Given the description of an element on the screen output the (x, y) to click on. 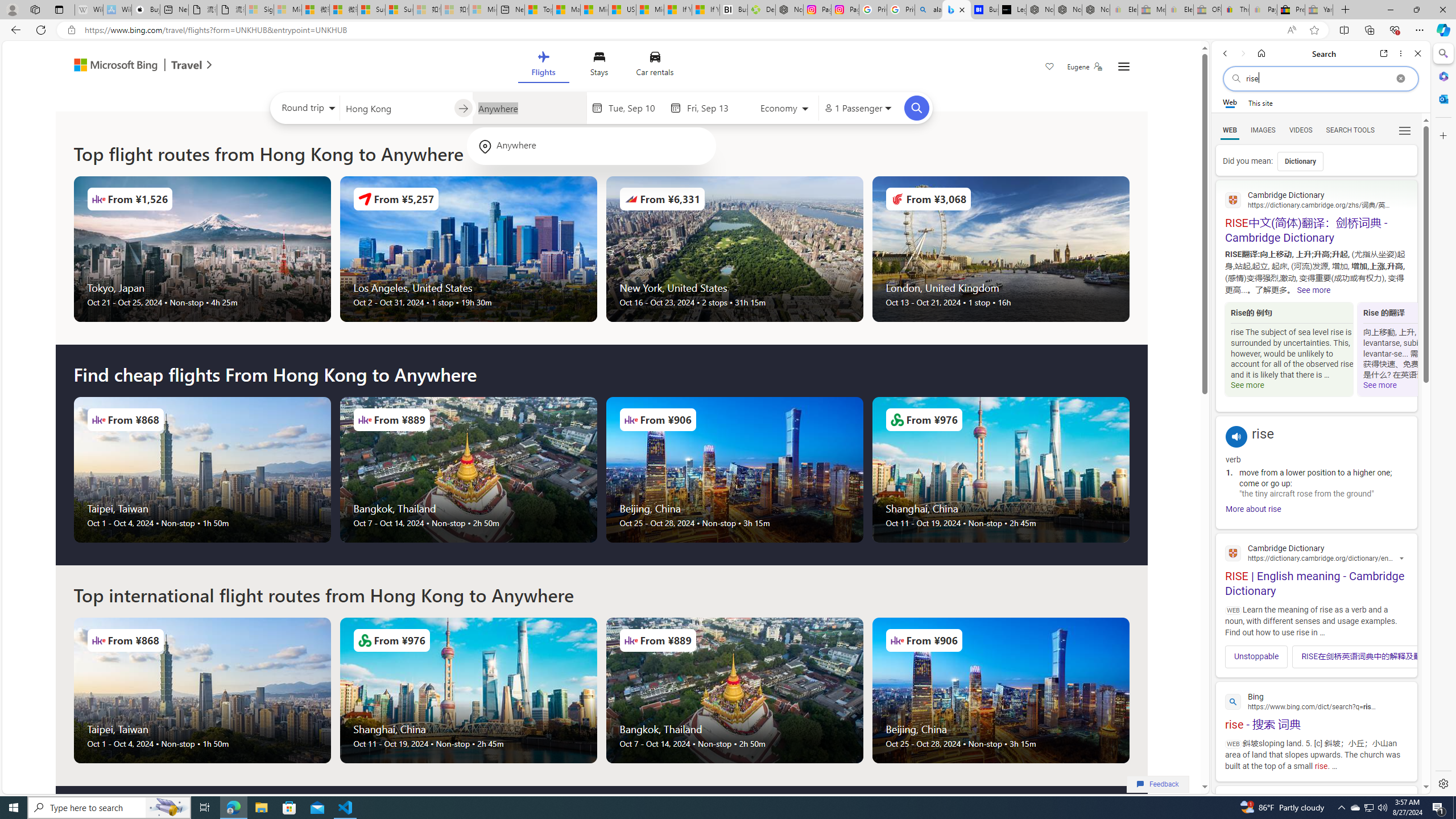
Going to? (528, 107)
Marine life - MSN (566, 9)
Click to scroll right (1400, 656)
Descarga Driver Updater (761, 9)
Sign in to your Microsoft account - Sleeping (259, 9)
Payments Terms of Use | eBay.com - Sleeping (1262, 9)
